Given the description of an element on the screen output the (x, y) to click on. 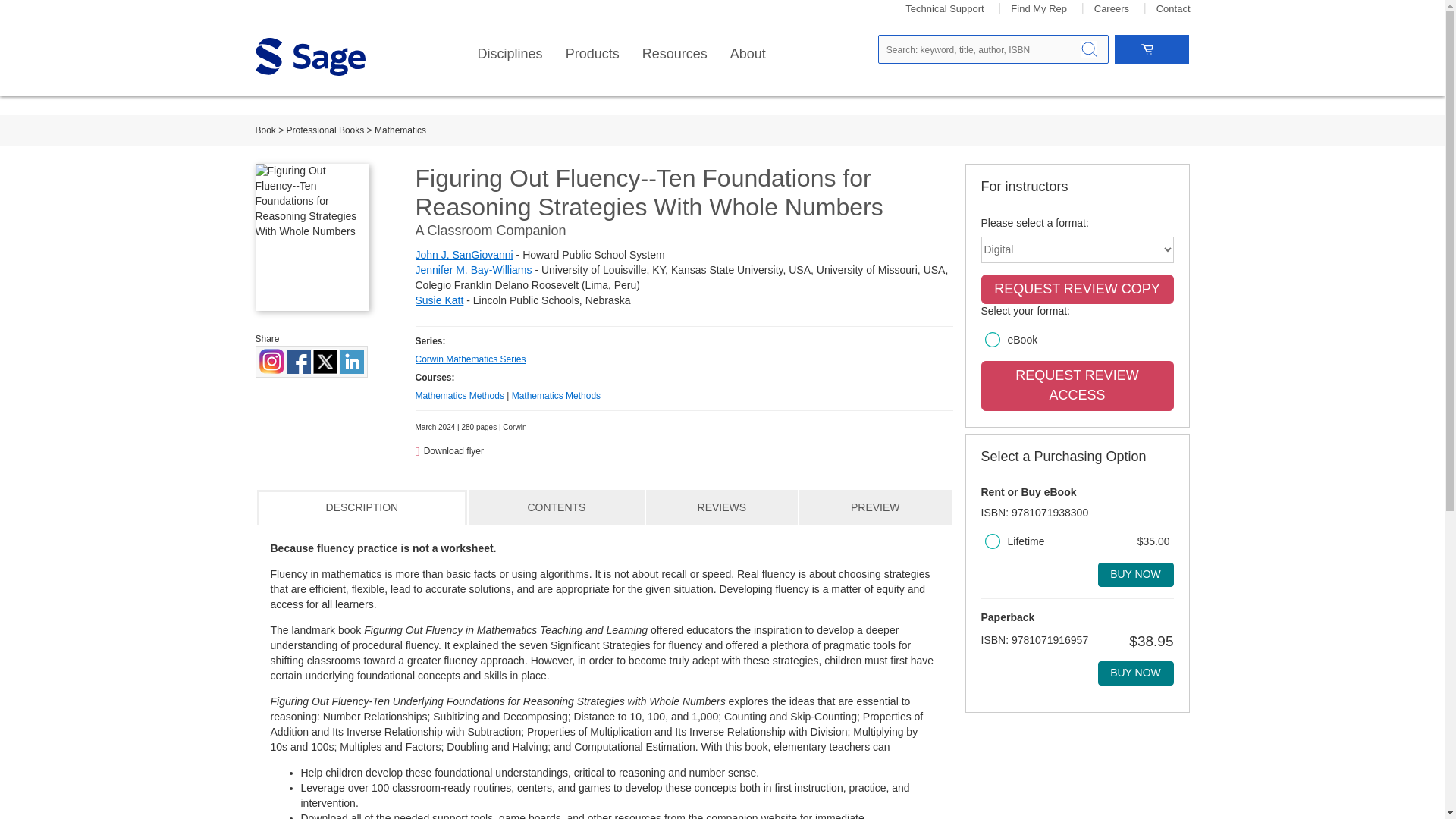
Request review copy (1077, 289)
Find My Rep (1038, 8)
Disciplines (509, 53)
Careers (1111, 8)
Buy now (1135, 574)
Sage logo: link back to homepage (309, 56)
Buy now (1135, 672)
Technical Support (944, 8)
Search (1089, 48)
Contact (1173, 8)
